Given the description of an element on the screen output the (x, y) to click on. 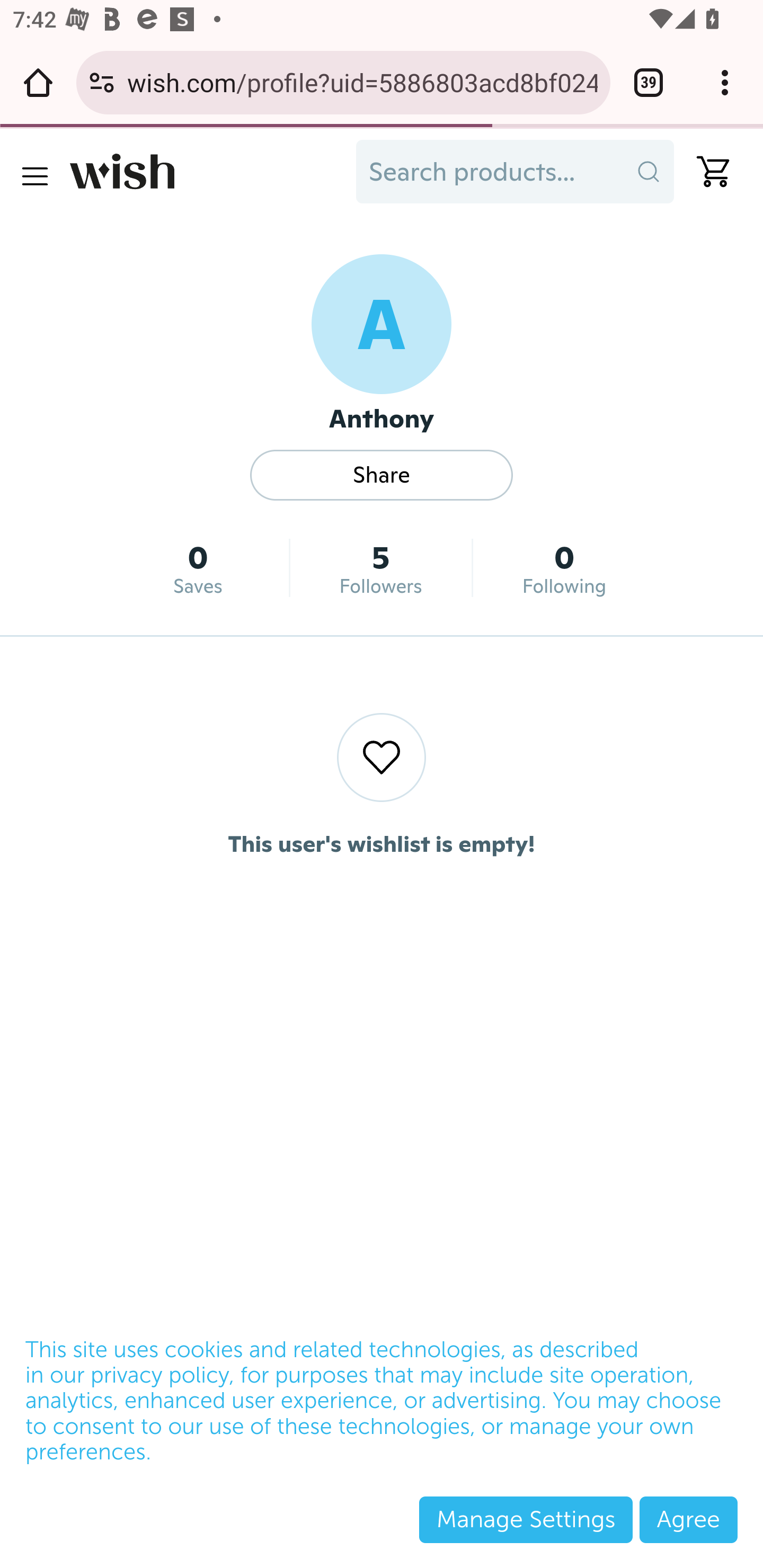
Open the home page (38, 82)
Connection is secure (101, 82)
Switch or close tabs (648, 82)
Customize and control Google Chrome (724, 82)
wish.com/profile?uid=5886803acd8bf02473cdbb80 (362, 82)
Search (648, 171)
Shopping Cart: 0 items (705, 171)
Main Menu (34, 176)
www.wish (206, 171)
Share (381, 475)
5 Followers 5 Followers (381, 568)
Manage Settings (526, 1518)
Agree (688, 1518)
